Given the description of an element on the screen output the (x, y) to click on. 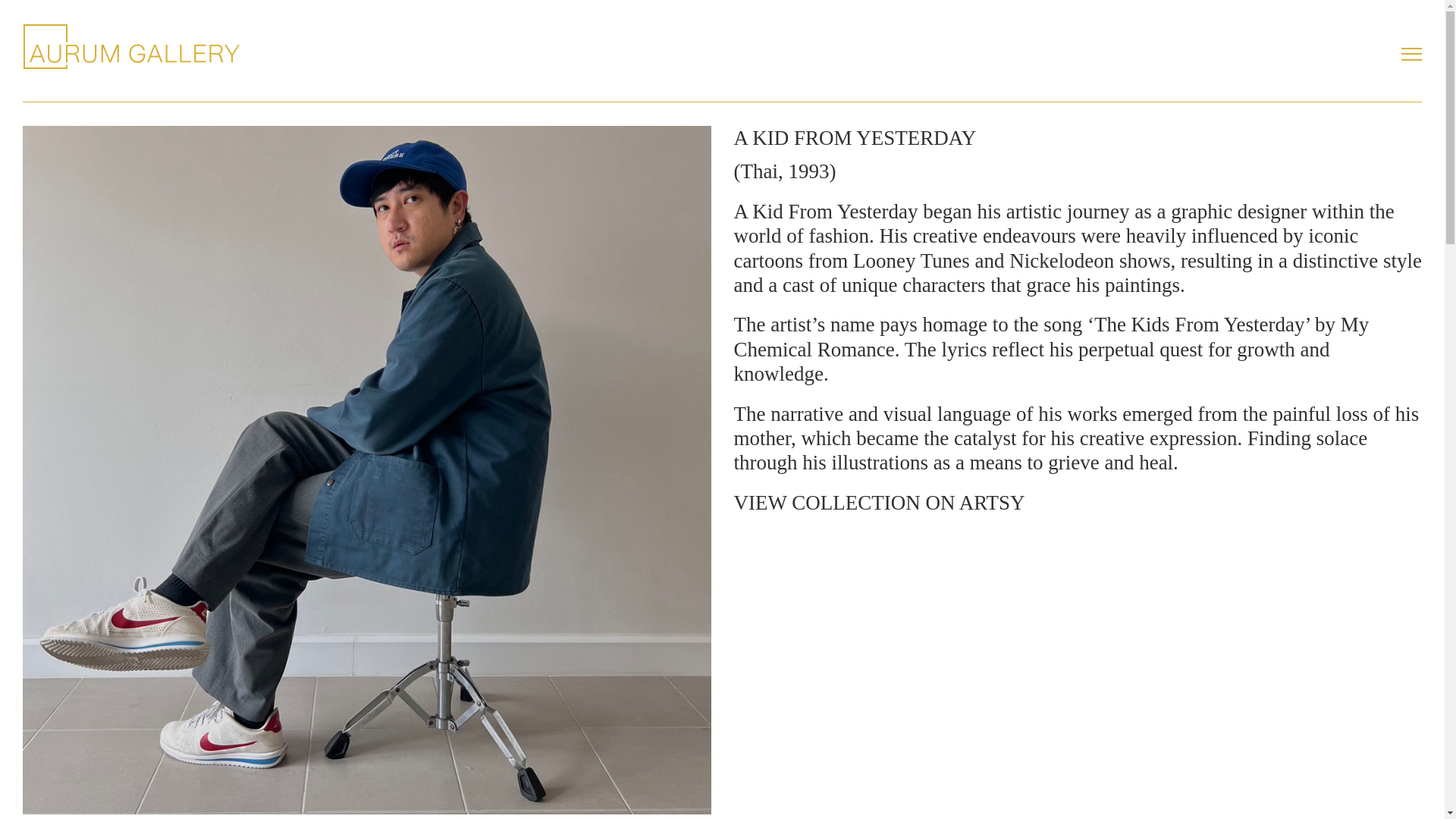
VIEW COLLECTION ON ARTSY (879, 502)
